Given the description of an element on the screen output the (x, y) to click on. 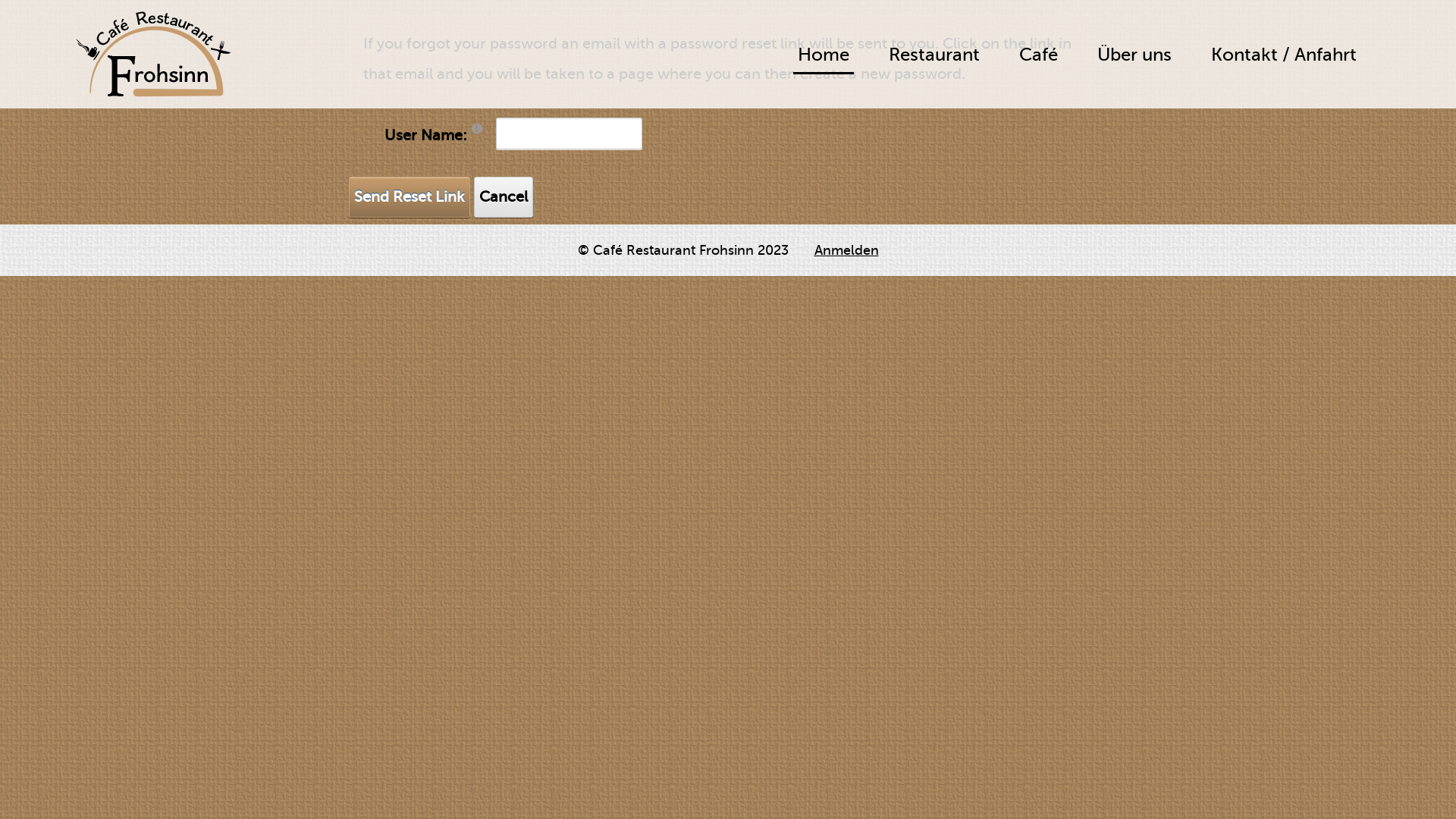
Restaurant Element type: text (934, 54)
Kontakt / Anfahrt Element type: text (1283, 54)
Cancel Element type: text (503, 196)
Anmelden Element type: text (846, 249)
Home Element type: text (823, 55)
Send Reset Link Element type: text (409, 196)
